Given the description of an element on the screen output the (x, y) to click on. 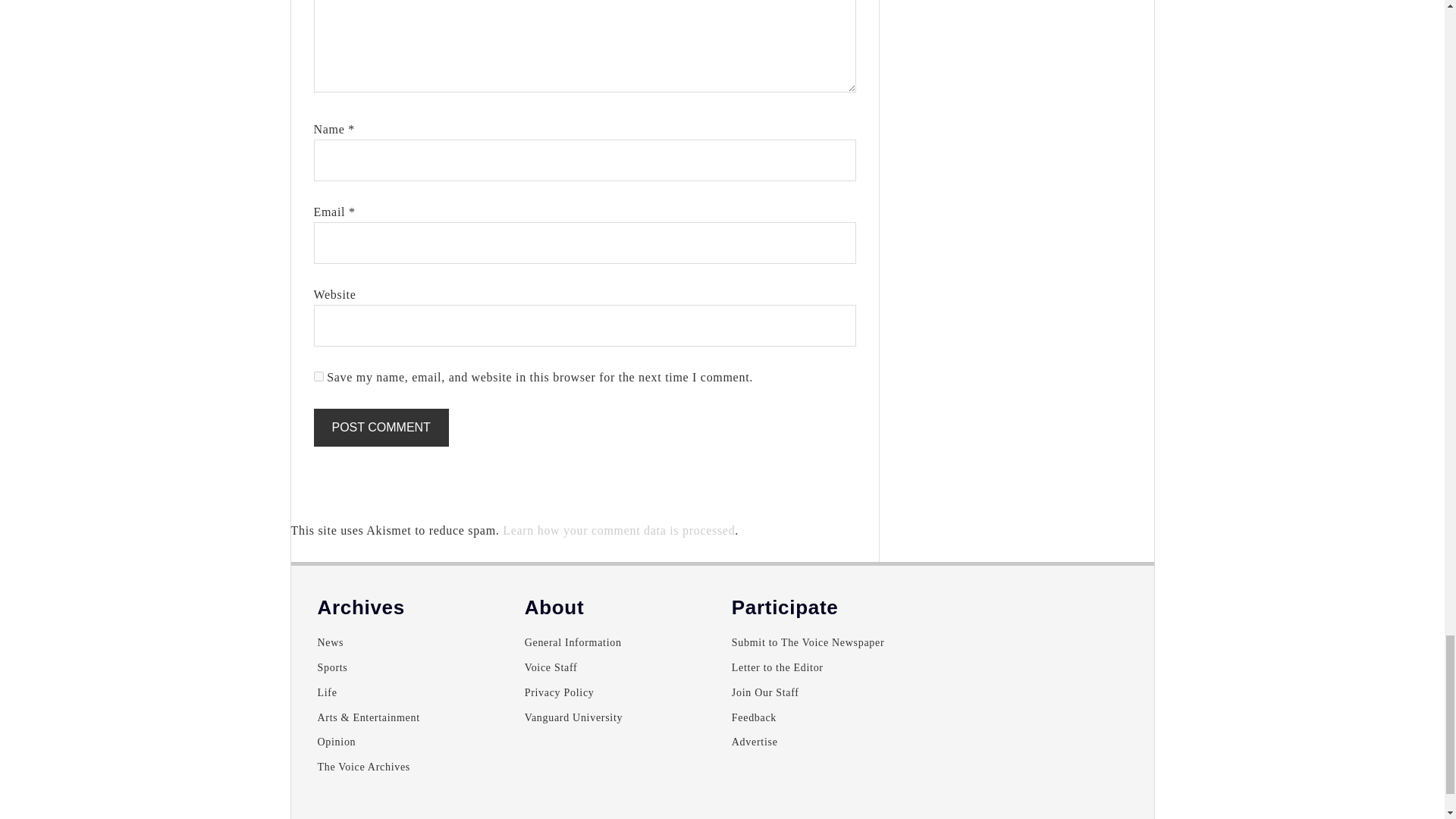
Learn how your comment data is processed (618, 530)
Post Comment (381, 427)
Post Comment (381, 427)
yes (318, 376)
